Given the description of an element on the screen output the (x, y) to click on. 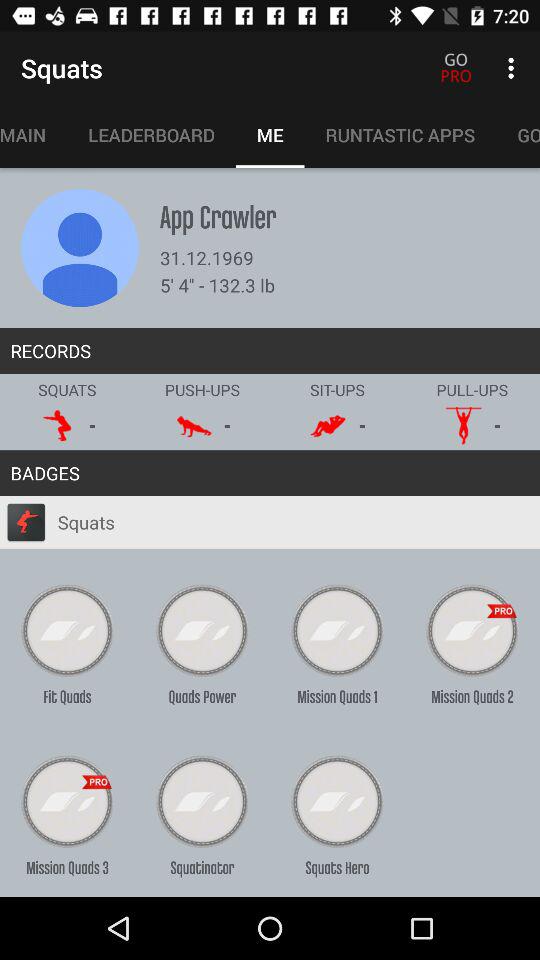
select the icon above the mission quads 1 (337, 630)
select the text squots hero in the last row (337, 801)
click on the icon which is above the quads power (202, 630)
